Given the description of an element on the screen output the (x, y) to click on. 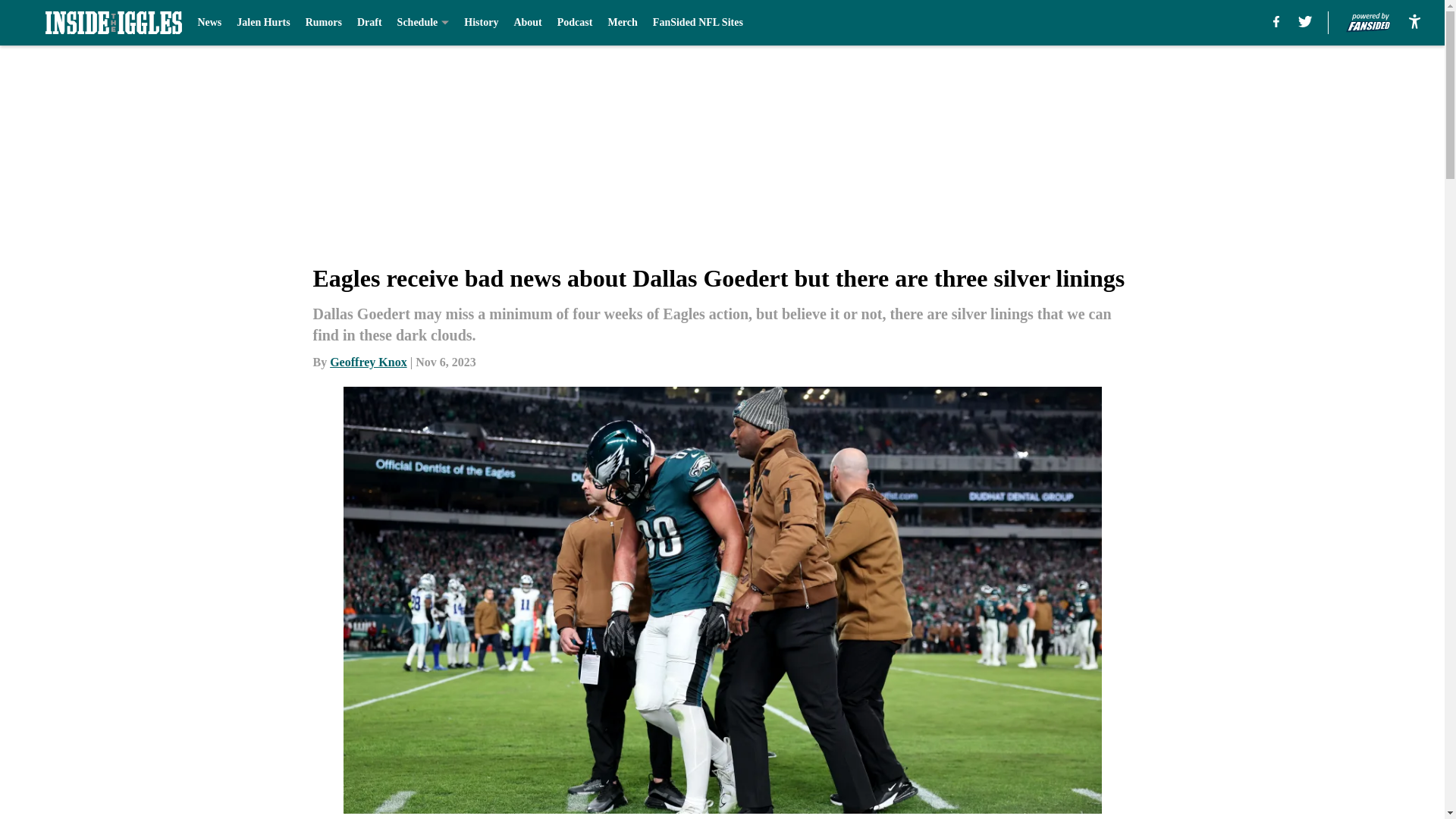
Jalen Hurts (262, 22)
Rumors (323, 22)
Draft (368, 22)
Merch (622, 22)
Geoffrey Knox (368, 361)
About (527, 22)
Podcast (574, 22)
FanSided NFL Sites (697, 22)
News (208, 22)
History (480, 22)
